Given the description of an element on the screen output the (x, y) to click on. 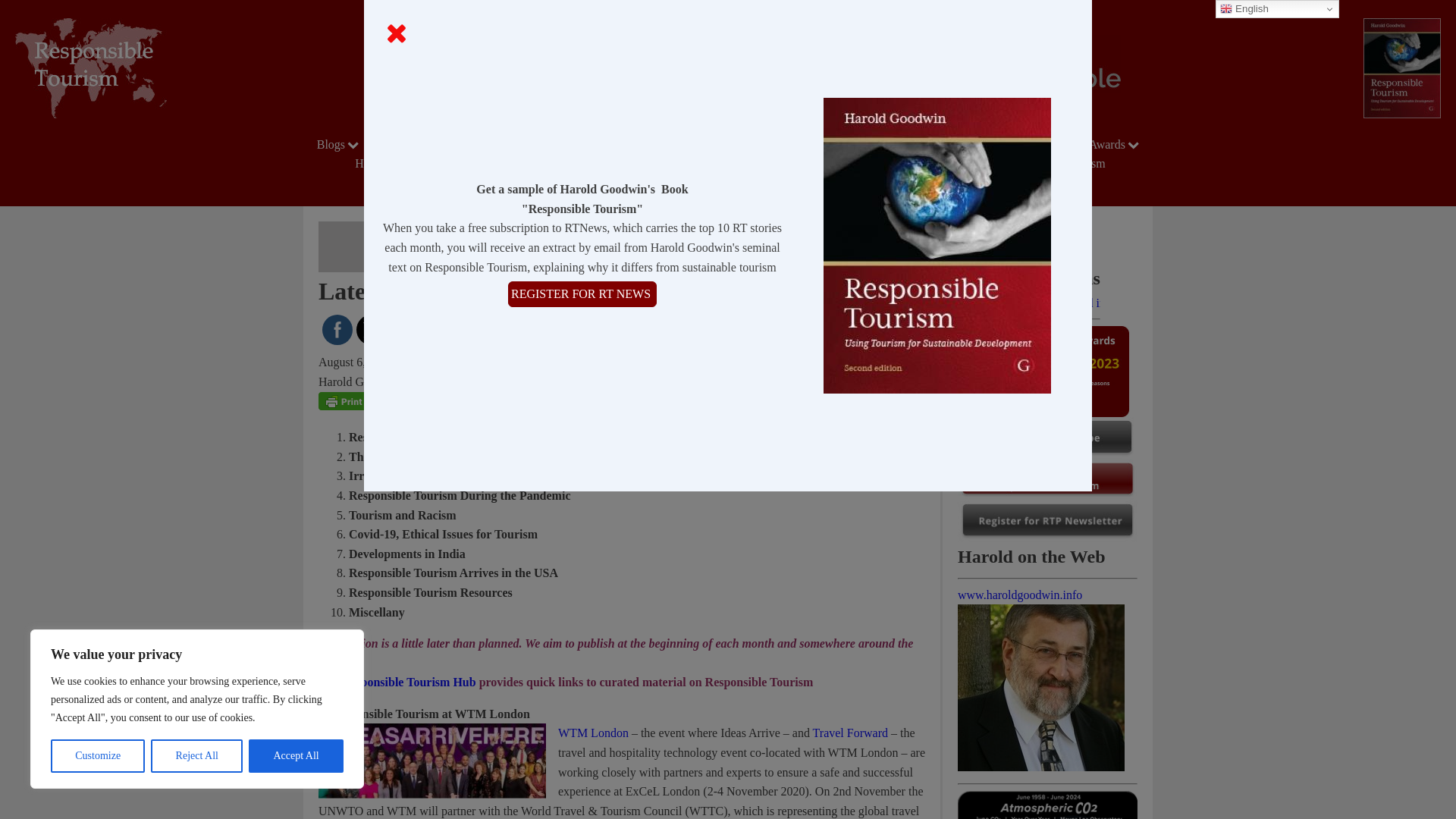
Twitter (371, 330)
YouTube (439, 329)
RSS (473, 329)
Click for more CO2 Earth info... (1047, 805)
About Us (550, 144)
OverTourism (927, 144)
Follow by Email (405, 329)
Platform for Change (440, 144)
Blogs (340, 144)
Customize (97, 756)
Facebook (337, 329)
2022 Responsible Tourism Charter (686, 144)
Harold Goodwin inducted into Global Travel Hall of Fame (1029, 302)
Accept All (295, 756)
What is RT? (829, 144)
